Given the description of an element on the screen output the (x, y) to click on. 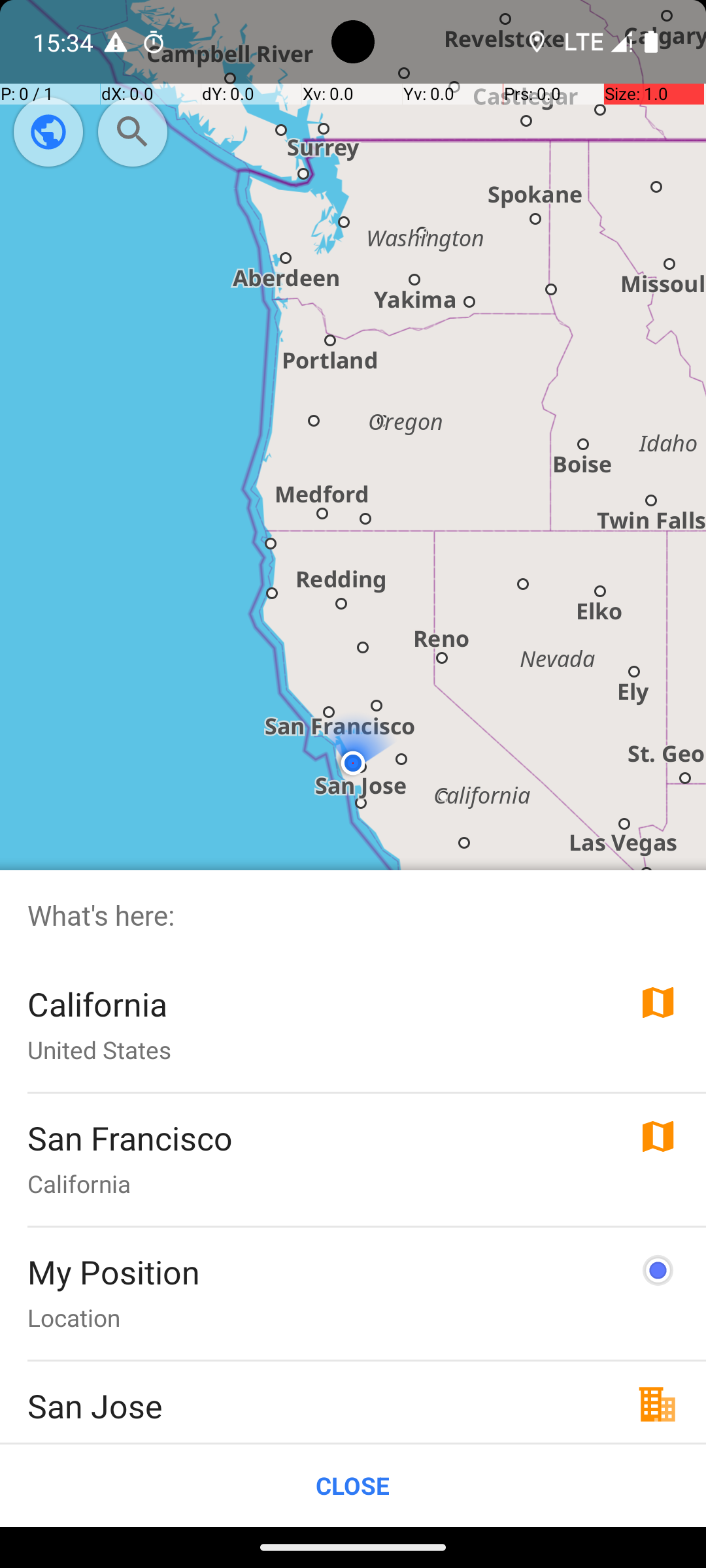
CLOSE Element type: android.widget.TextView (352, 1485)
What's here: Element type: android.widget.TextView (352, 914)
California Element type: android.widget.TextView (97, 1003)
United States Element type: android.widget.TextView (99, 1049)
San Francisco Element type: android.widget.TextView (130, 1137)
My Position Element type: android.widget.TextView (113, 1271)
Location Element type: android.widget.TextView (73, 1317)
San Jose Element type: android.widget.TextView (94, 1405)
City Element type: android.widget.TextView (47, 1438)
